Given the description of an element on the screen output the (x, y) to click on. 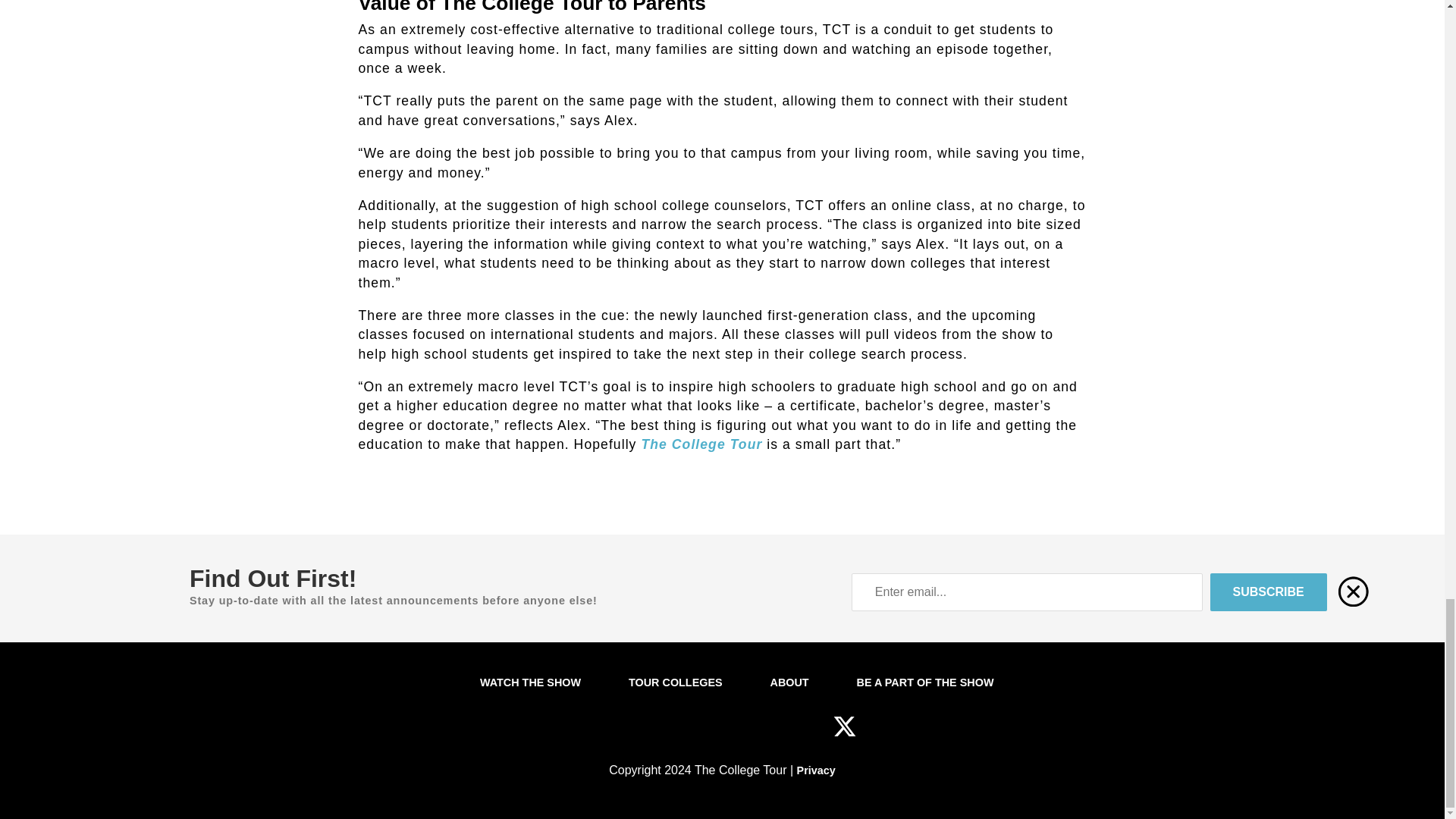
Subscribe to us on Youtube (749, 734)
Join us on FaceBook (797, 734)
Connect with us on LinkedIn (611, 734)
Follow us on Twitter (844, 734)
Watch us on tiktok (703, 734)
Join us on Instagram (655, 734)
